Given the description of an element on the screen output the (x, y) to click on. 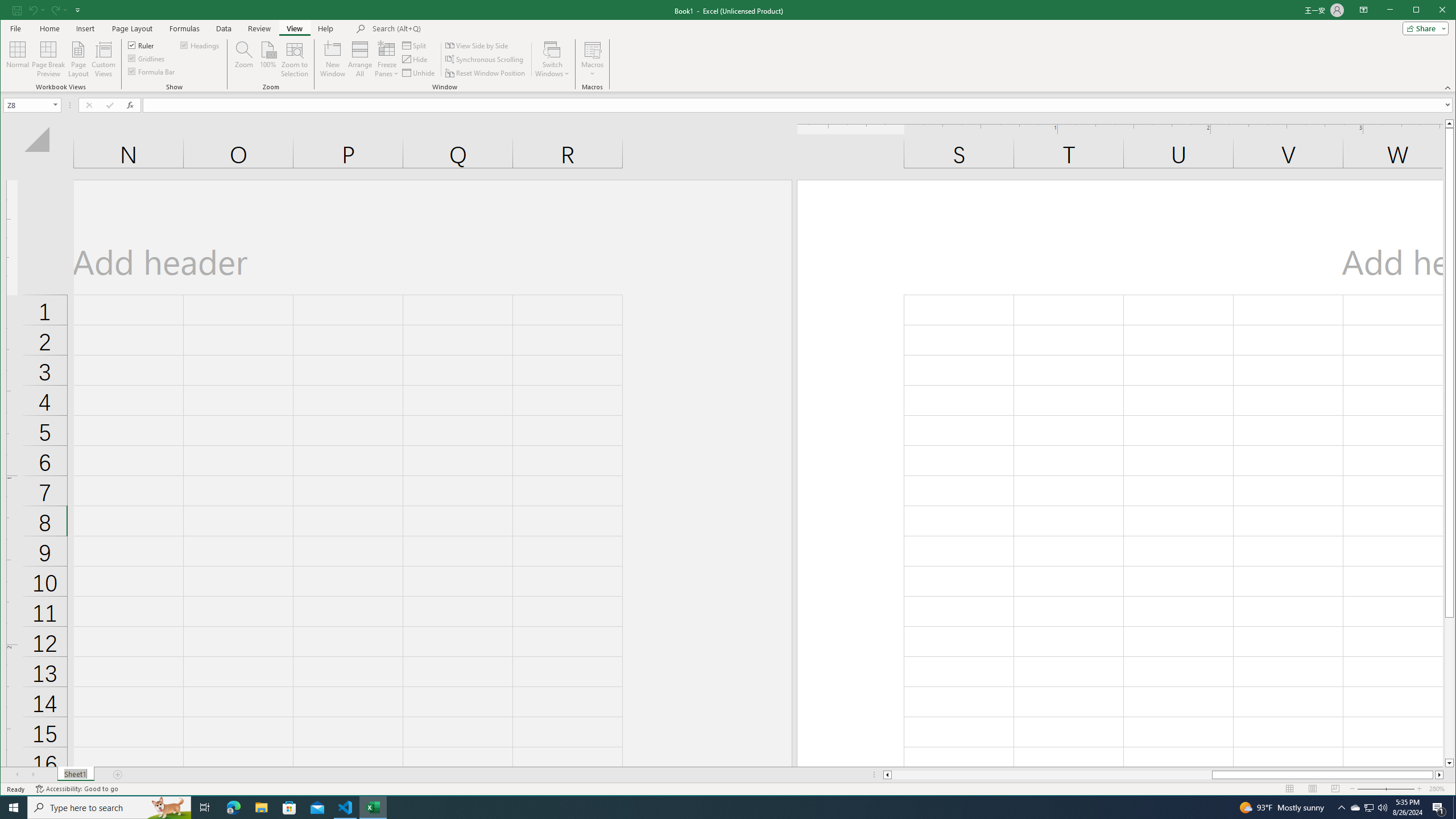
Review (259, 28)
Data (223, 28)
System (10, 10)
Page left (1051, 774)
Microsoft search (451, 28)
File Explorer (261, 807)
Split (414, 45)
Headings (200, 44)
Sheet Tab (75, 774)
Action Center, 1 new notification (1439, 807)
Close (1444, 11)
System (10, 10)
Microsoft Edge (233, 807)
Customize Quick Access Toolbar (77, 9)
Start (13, 807)
